Given the description of an element on the screen output the (x, y) to click on. 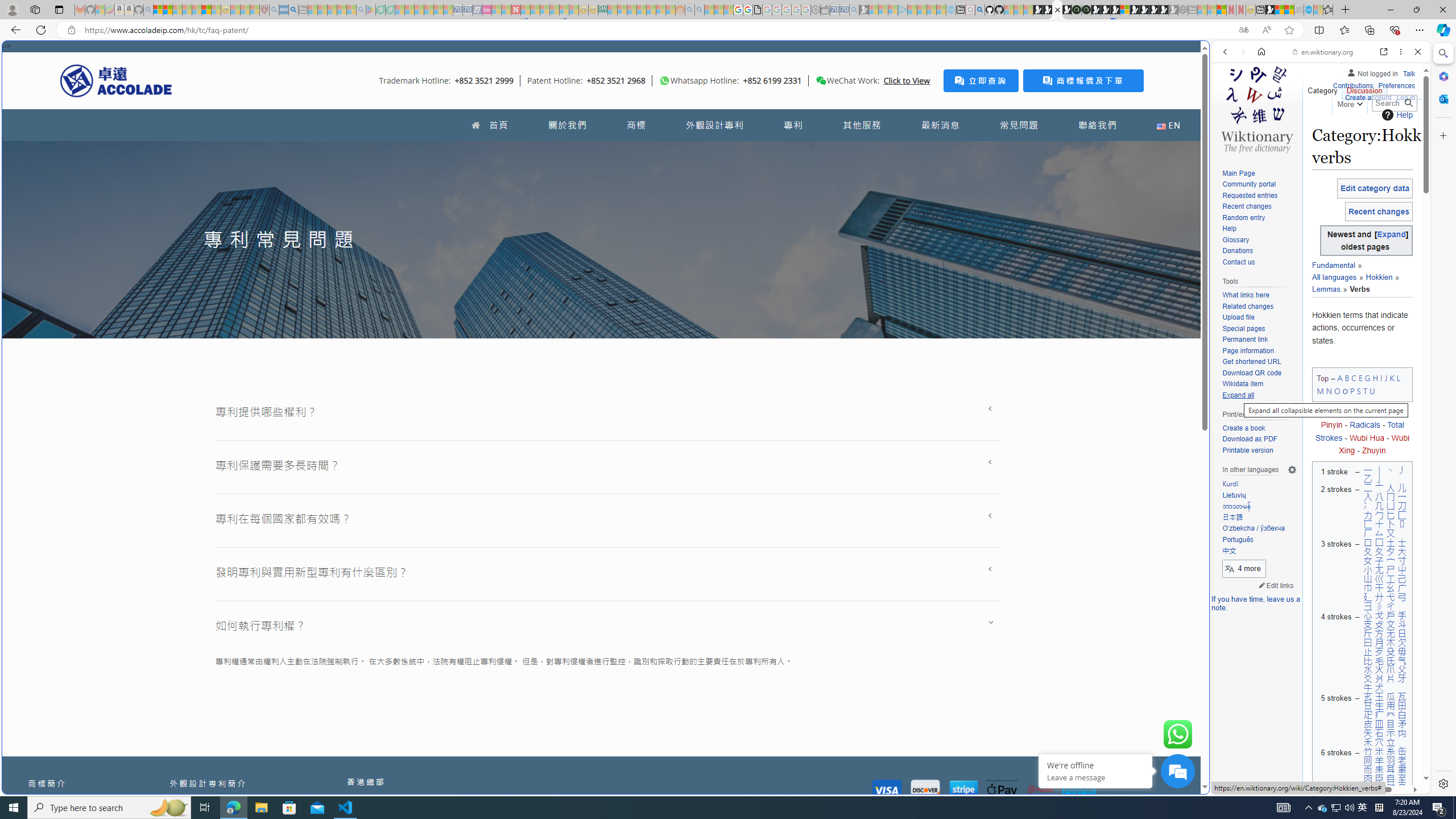
Fundamental (1333, 265)
Pinyin (1331, 424)
